Given the description of an element on the screen output the (x, y) to click on. 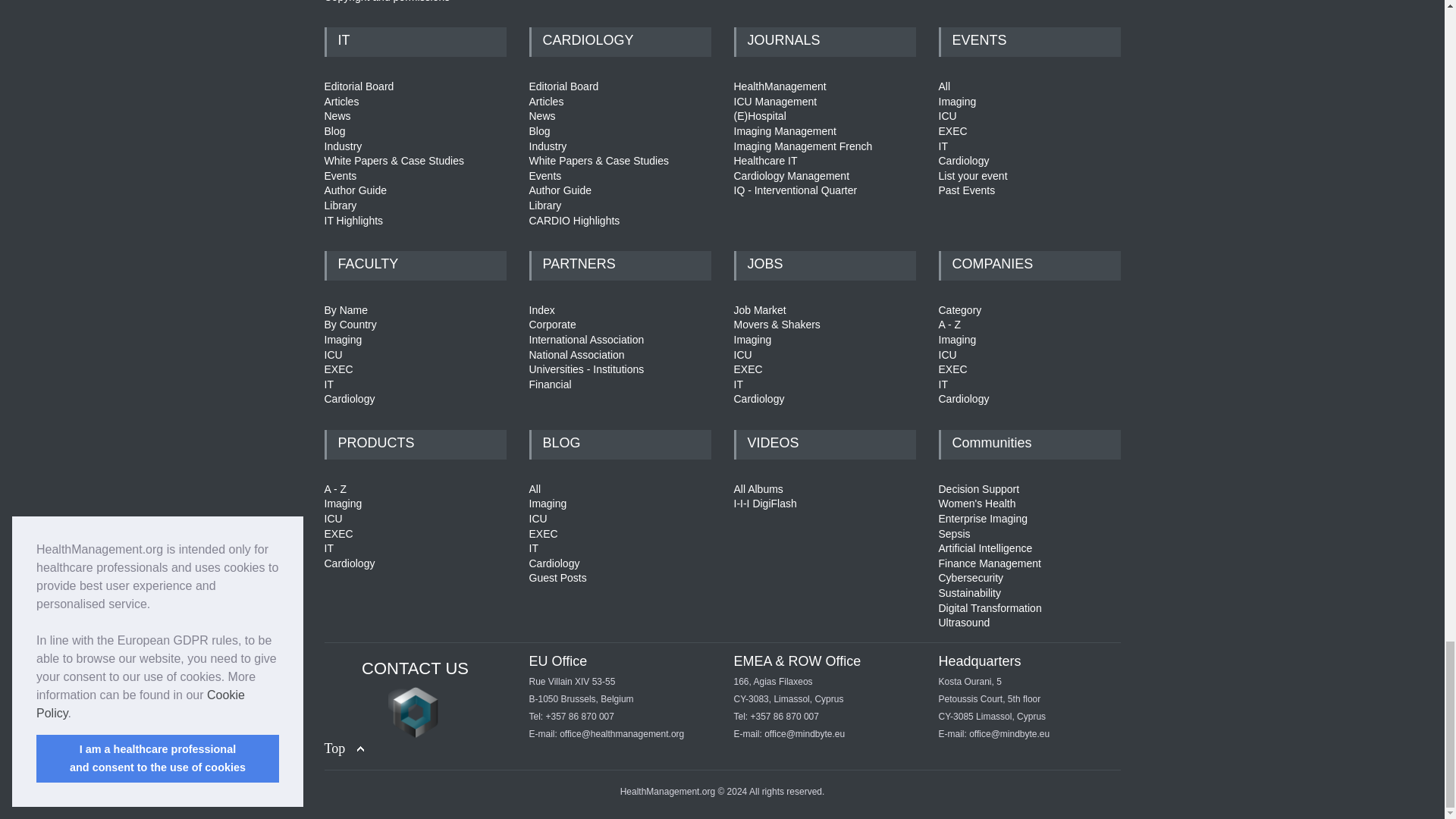
Top (344, 748)
